Given the description of an element on the screen output the (x, y) to click on. 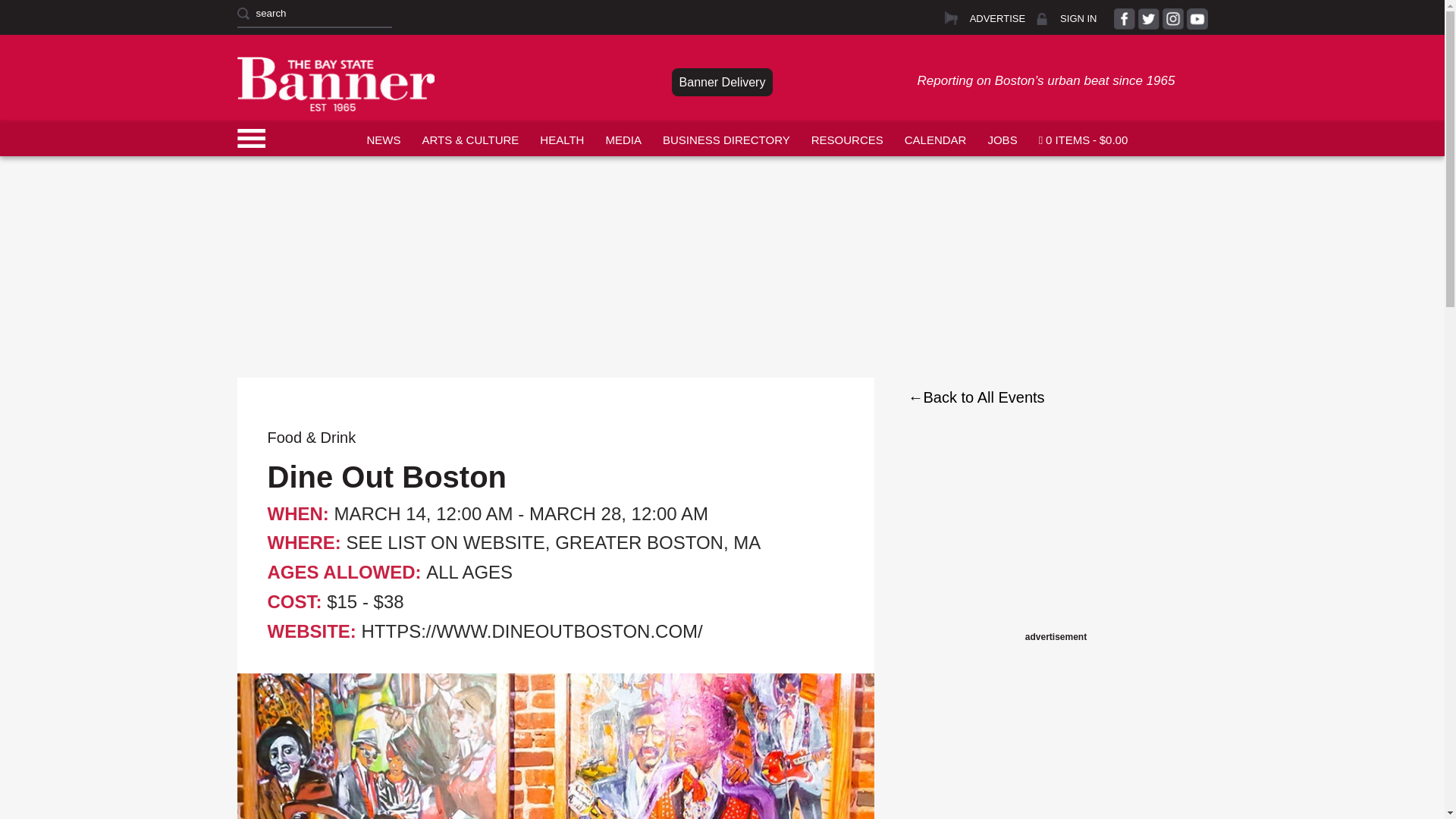
Start shopping (1082, 138)
3rd party ad content (1056, 532)
Dine Out Boston (554, 746)
3rd party ad content (721, 191)
The Bay State Banner (334, 83)
